Given the description of an element on the screen output the (x, y) to click on. 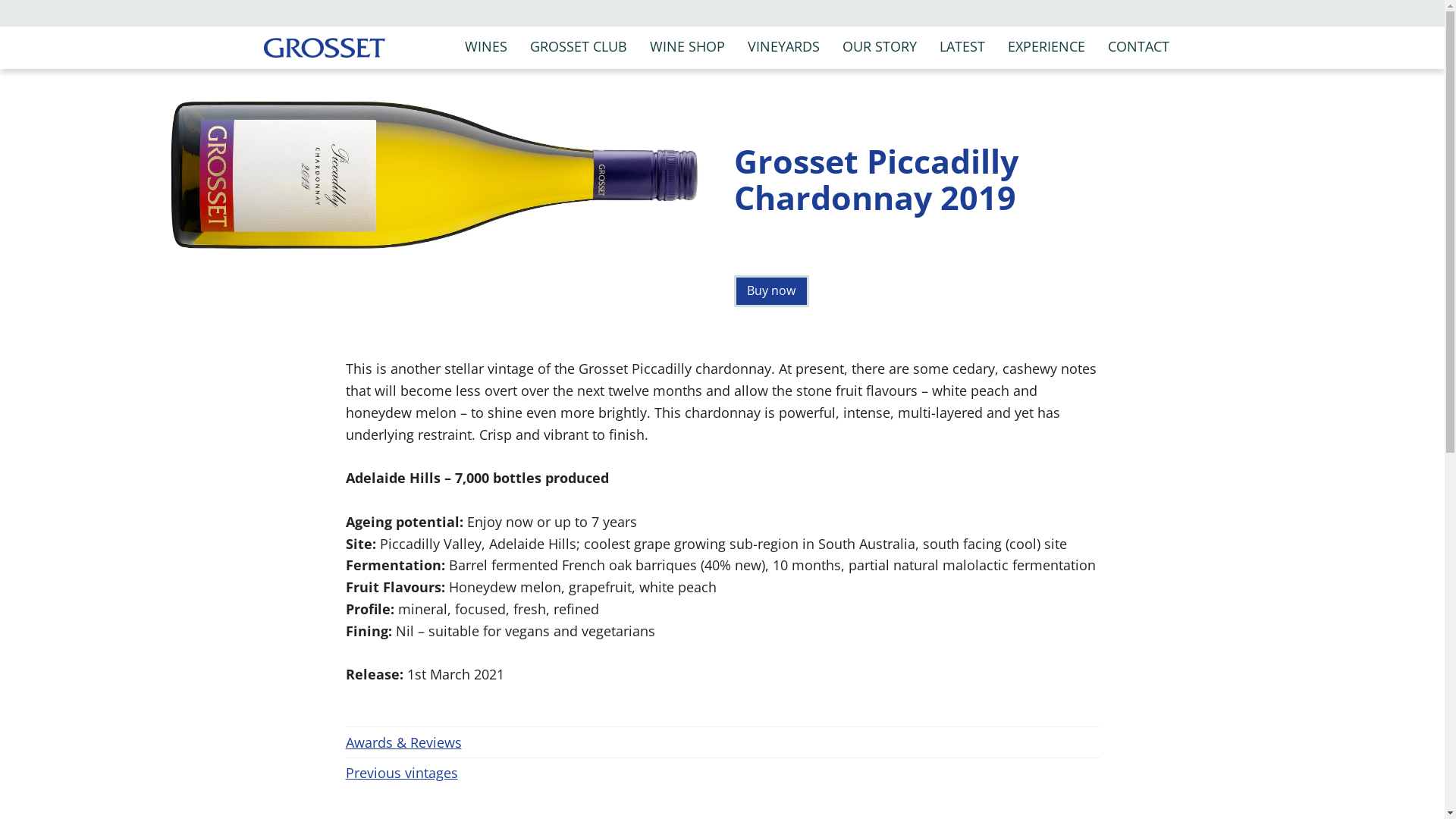
WINE SHOP Element type: text (687, 47)
Grosset Wines Element type: hover (323, 47)
VINEYARDS Element type: text (783, 47)
EXPERIENCE Element type: text (1046, 47)
Previous vintages Element type: text (722, 772)
GROSSET CLUB Element type: text (578, 47)
Awards & Reviews Element type: text (722, 741)
OUR STORY Element type: text (879, 47)
WINES Element type: text (485, 47)
Buy now Element type: text (771, 291)
CONTACT Element type: text (1138, 47)
LATEST Element type: text (962, 47)
